Given the description of an element on the screen output the (x, y) to click on. 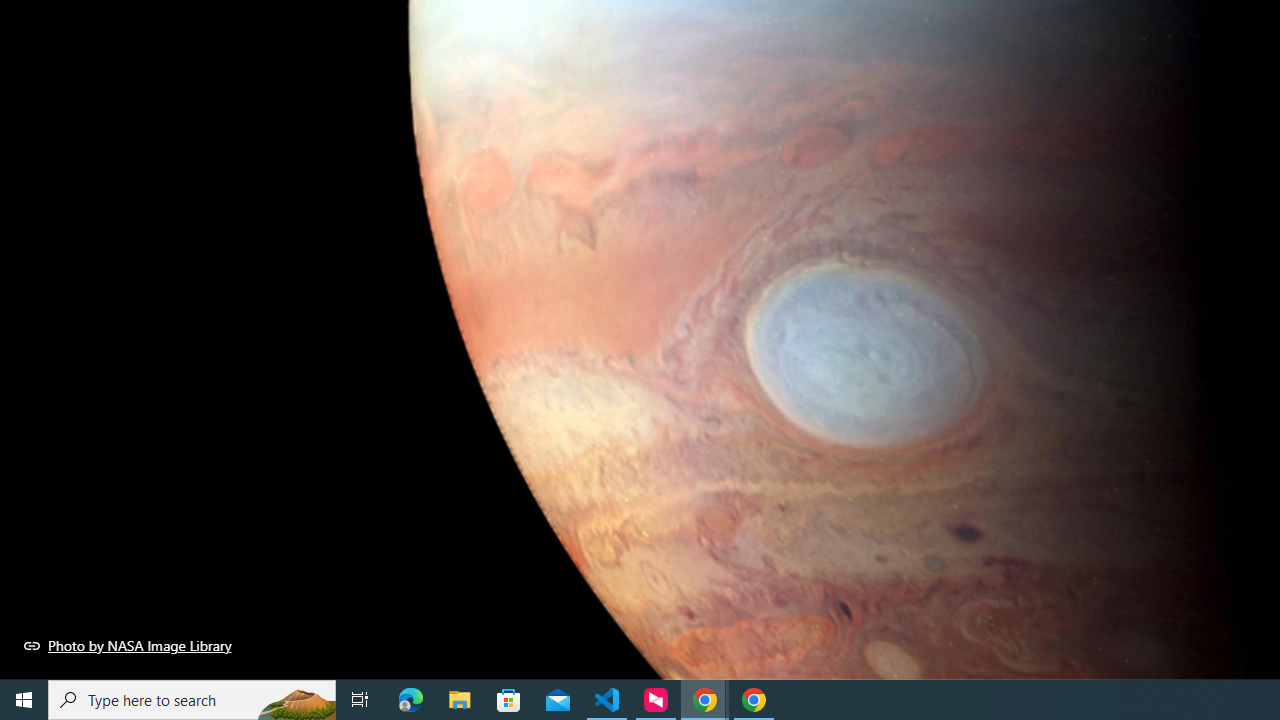
Photo by NASA Image Library (127, 645)
